Given the description of an element on the screen output the (x, y) to click on. 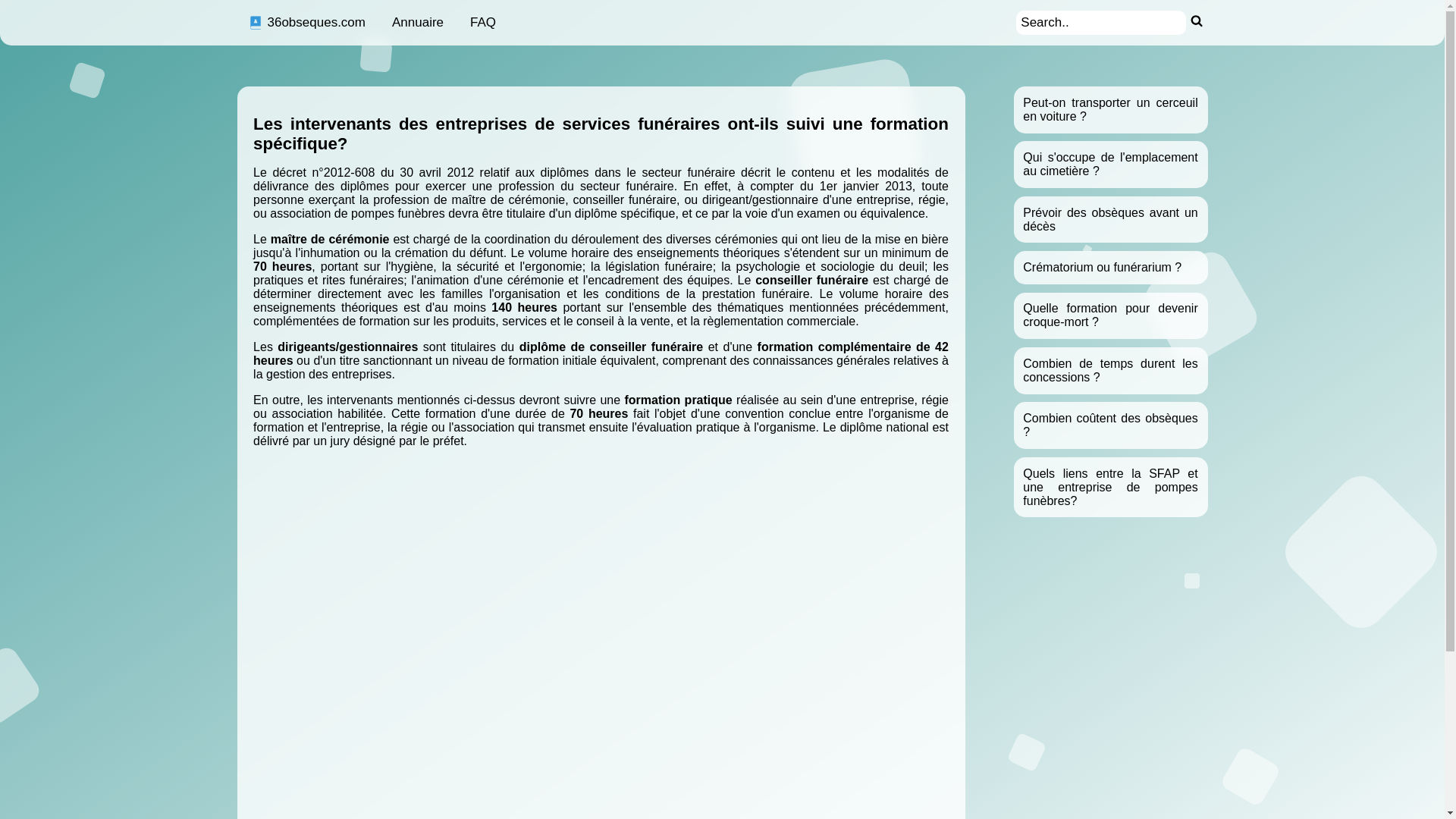
FAQ Element type: text (482, 22)
Quelle formation pour devenir croque-mort ? Element type: text (1109, 314)
36obseques.com Element type: text (306, 22)
Peut-on transporter un cerceuil en voiture ? Element type: text (1109, 109)
Combien de temps durent les concessions ? Element type: text (1109, 370)
Annuaire Element type: text (417, 22)
